Given the description of an element on the screen output the (x, y) to click on. 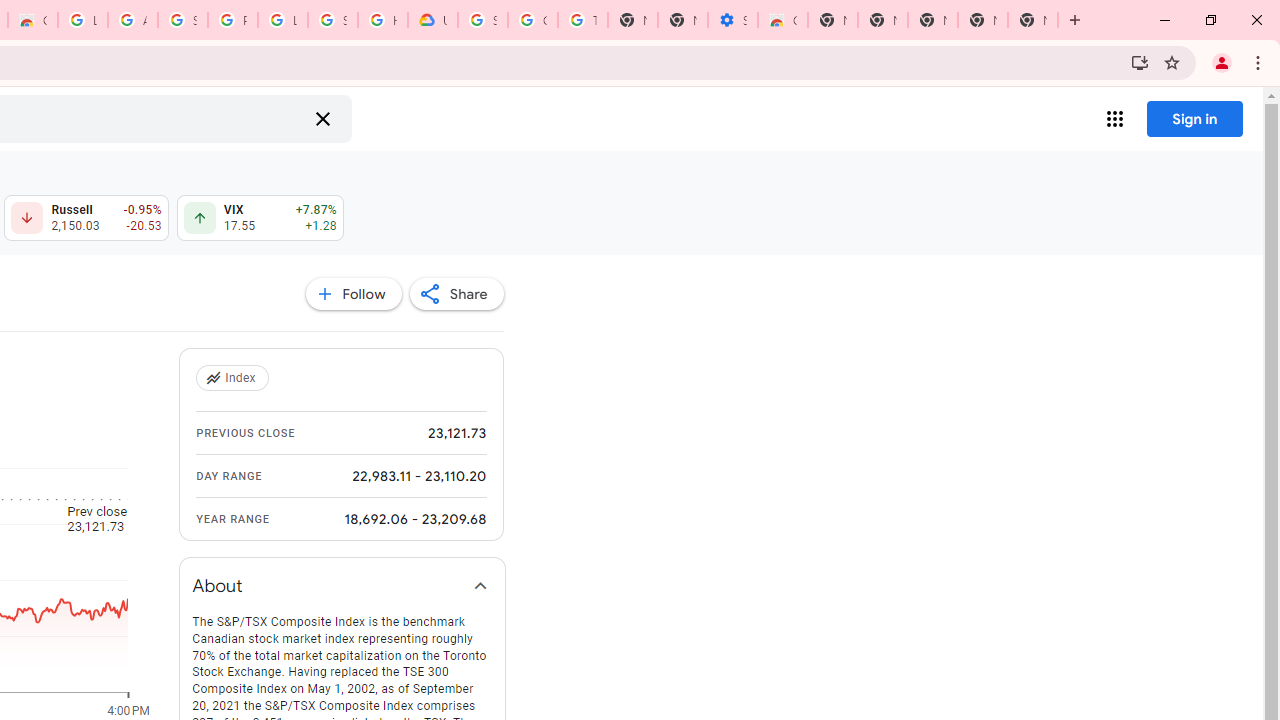
New Tab (1032, 20)
Ad Settings (132, 20)
Sign in - Google Accounts (483, 20)
Sign in - Google Accounts (333, 20)
Clear search (322, 118)
Google Account Help (533, 20)
Sign in - Google Accounts (182, 20)
New Tab (832, 20)
Index (233, 377)
